Given the description of an element on the screen output the (x, y) to click on. 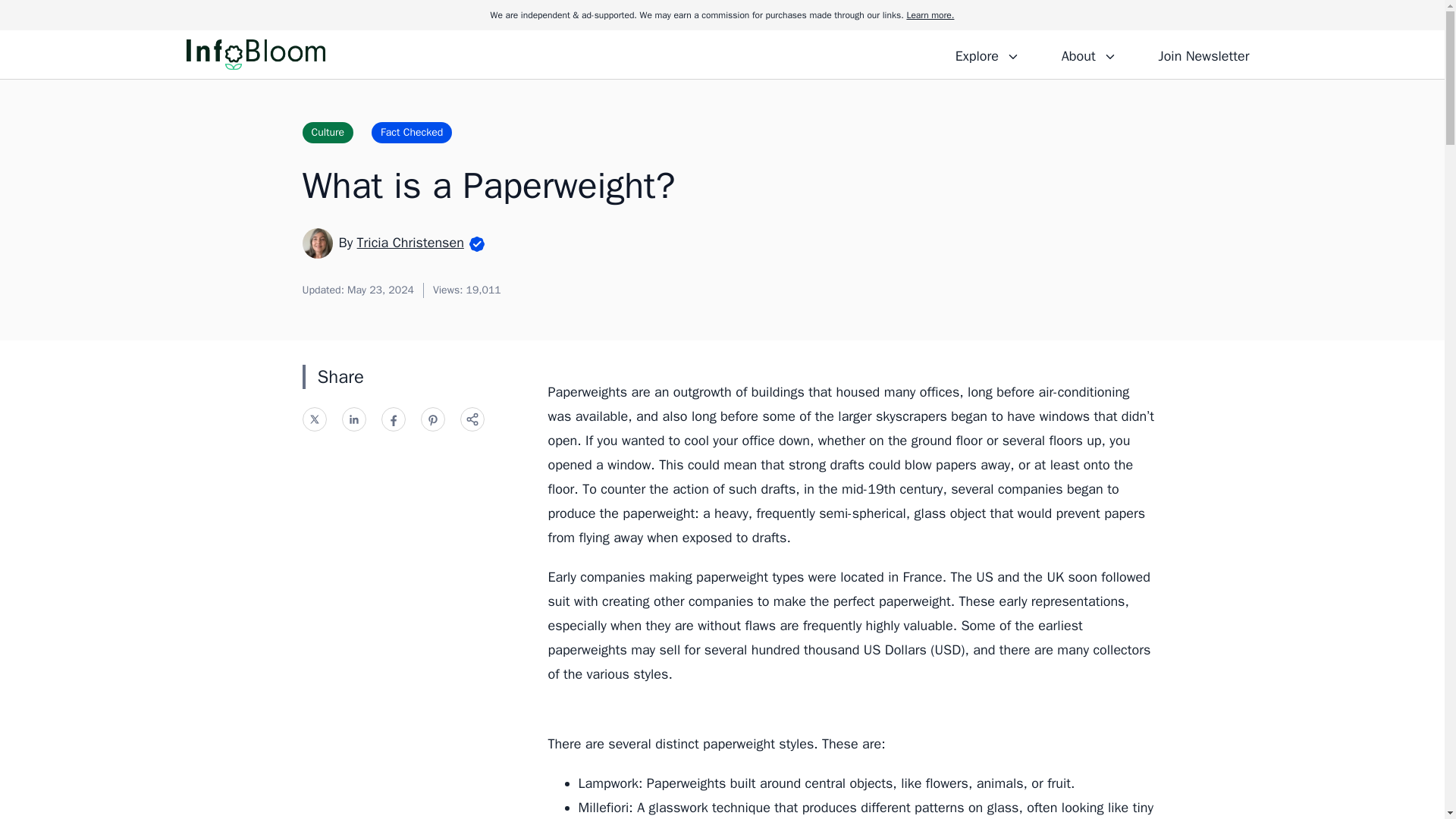
Fact Checked (411, 132)
Learn more. (929, 15)
Tricia Christensen (410, 242)
About (1088, 54)
Explore (986, 54)
Join Newsletter (1202, 54)
Culture (327, 132)
